Given the description of an element on the screen output the (x, y) to click on. 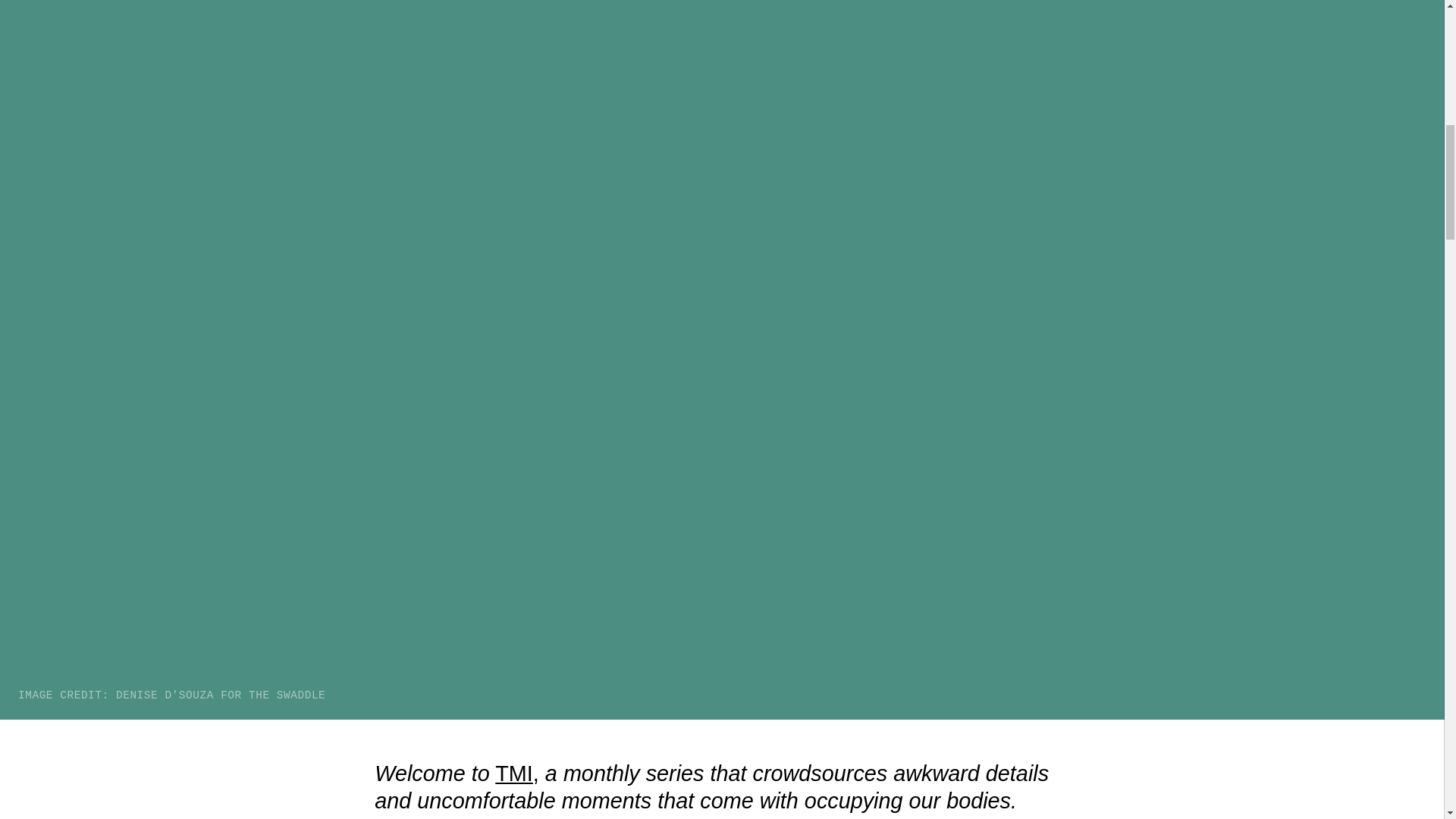
TMI (513, 773)
